Given the description of an element on the screen output the (x, y) to click on. 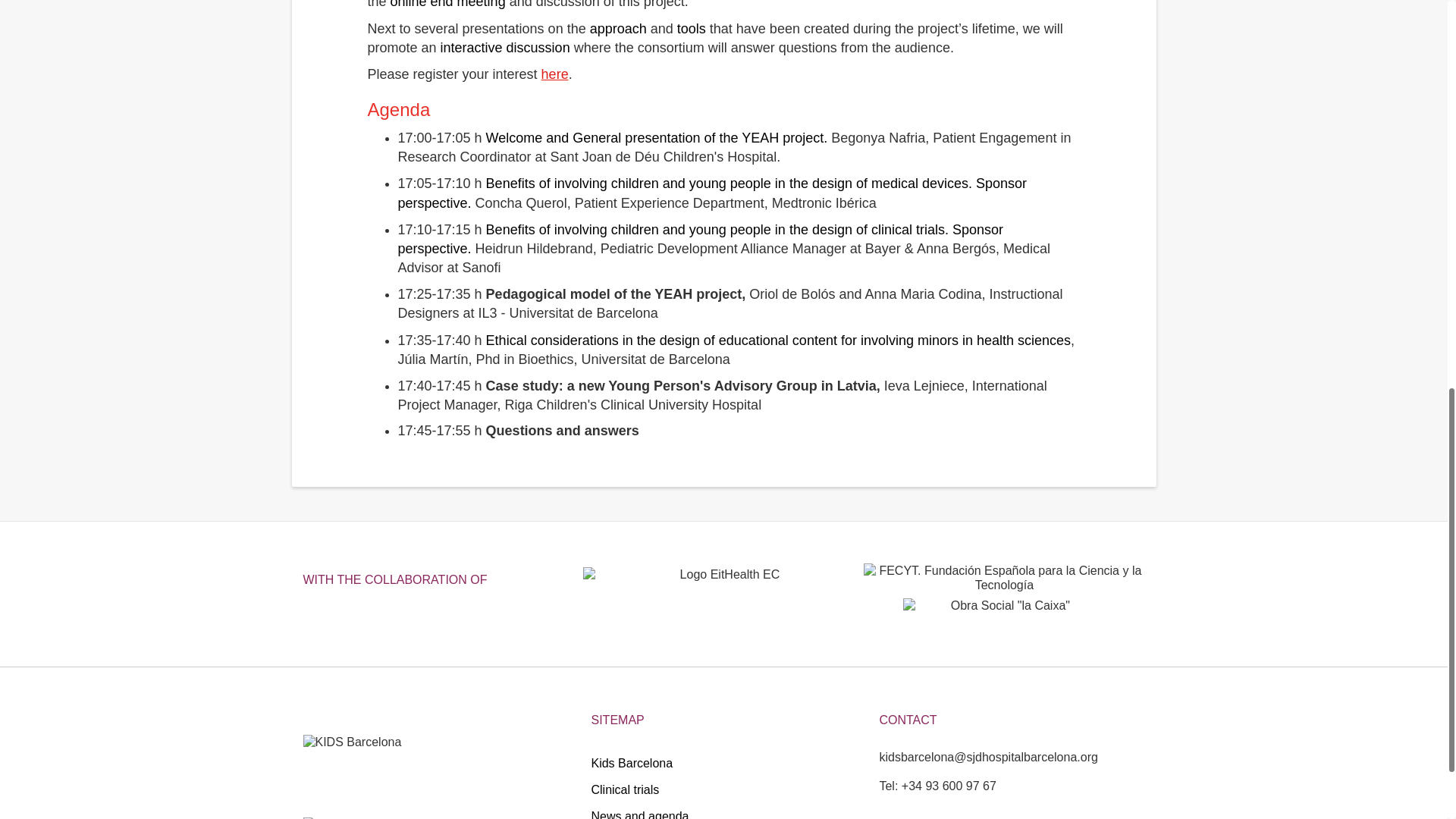
News and agenda (723, 811)
here (555, 73)
Obra Social "la Caixa" (1003, 622)
Kids Barcelona (723, 763)
Clinical trials (723, 789)
KIDS Barcelona (366, 775)
Logo EitHealth EC (723, 592)
